Given the description of an element on the screen output the (x, y) to click on. 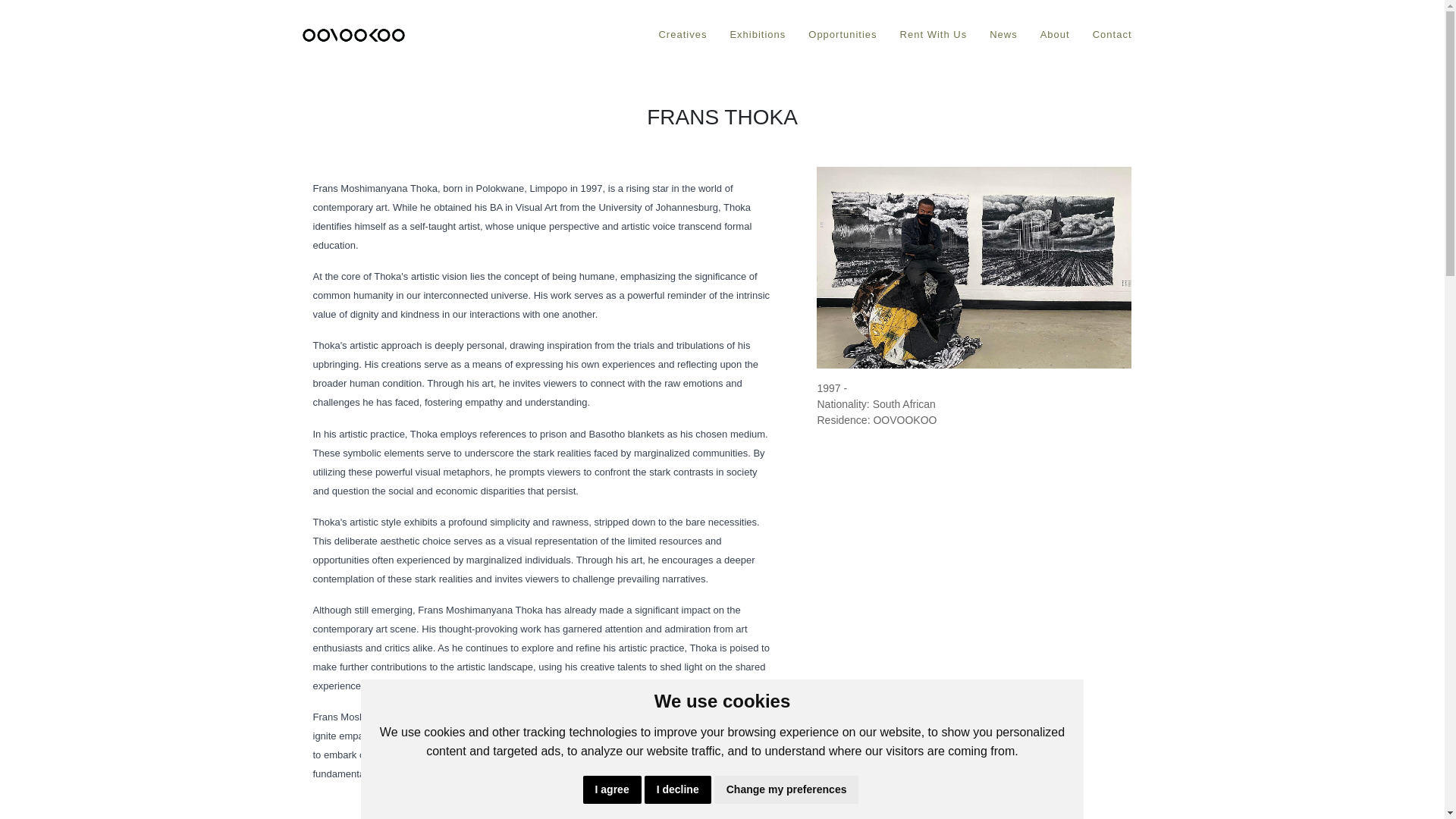
Creatives (682, 34)
I agree (612, 789)
OOVOOKOO (353, 34)
Exhibitions (757, 34)
Rent With Us (933, 34)
I decline (678, 789)
Contact (1112, 34)
Opportunities (842, 34)
About (1055, 34)
News (1003, 34)
Change my preferences (786, 789)
